Given the description of an element on the screen output the (x, y) to click on. 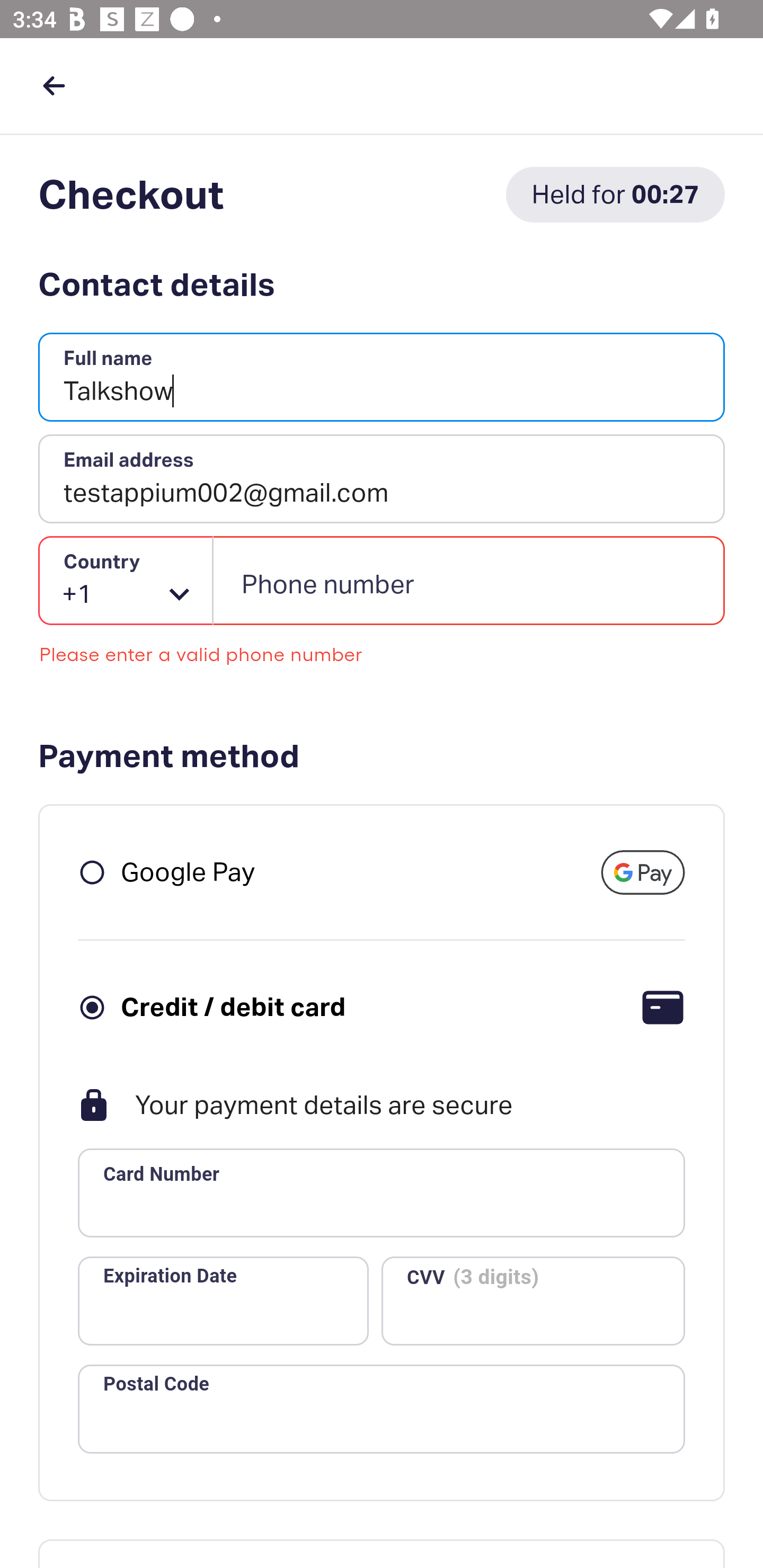
back button (53, 85)
Talkshow (381, 377)
testappium002@gmail.com (381, 478)
  +1 (126, 580)
Google Pay (187, 871)
Credit / debit card (233, 1006)
Card Number (381, 1192)
Expiration Date (222, 1300)
CVV (3 digits) (533, 1300)
Postal Code (381, 1408)
